Given the description of an element on the screen output the (x, y) to click on. 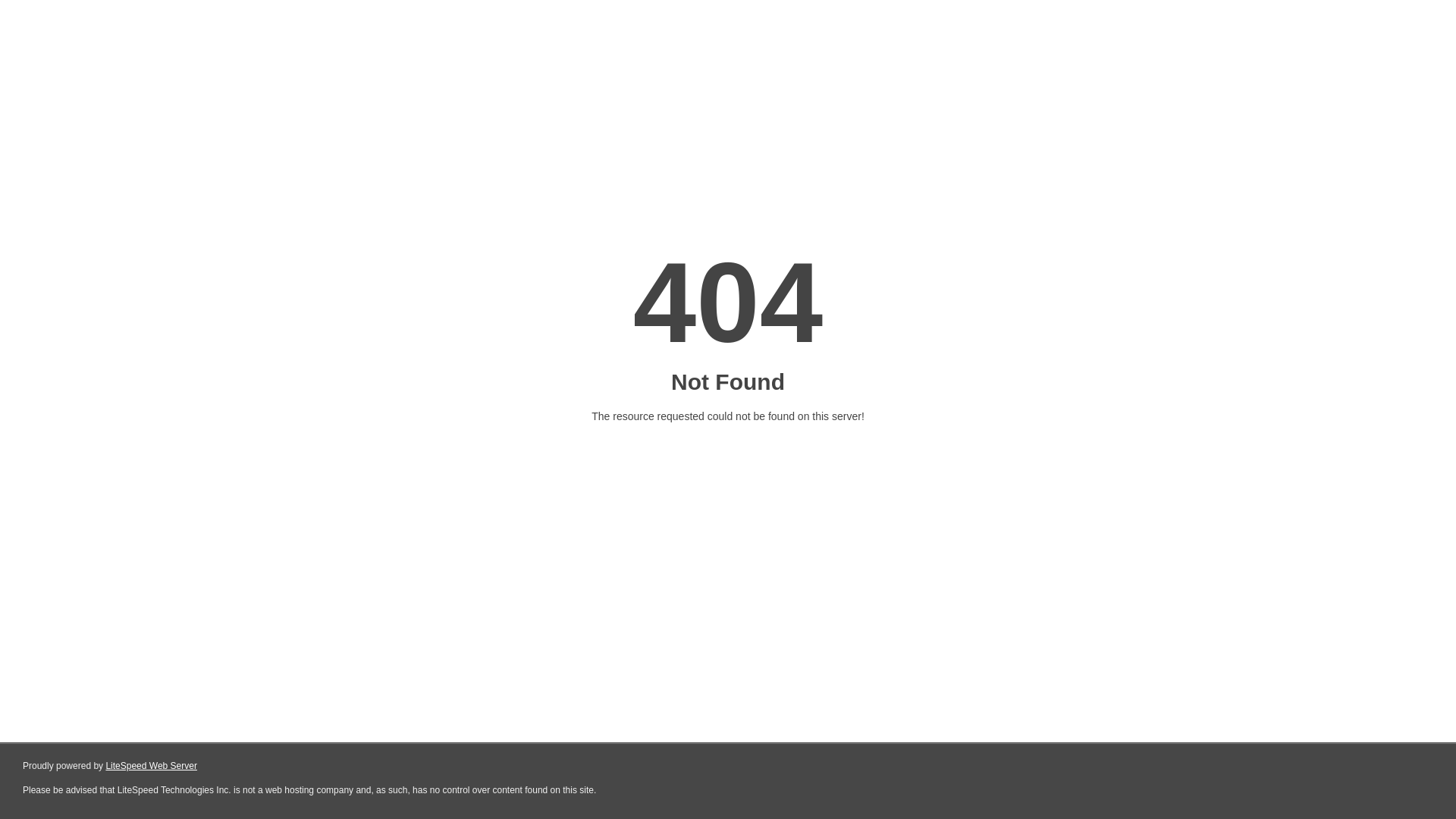
LiteSpeed Web Server Element type: text (151, 765)
